Given the description of an element on the screen output the (x, y) to click on. 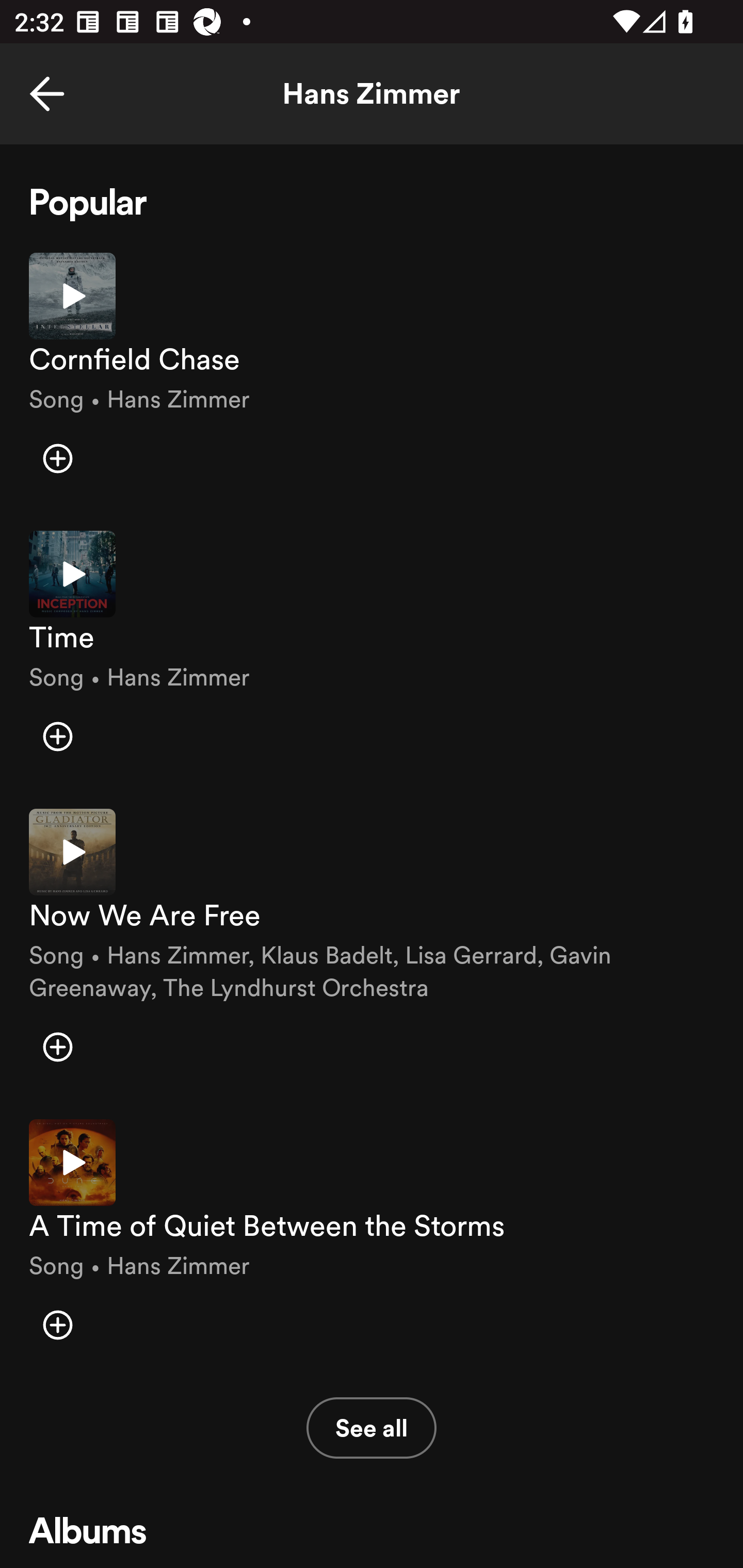
Back (46, 93)
Play preview (71, 295)
Add item (57, 458)
Play preview Time Song • Hans Zimmer Add item (371, 654)
Play preview (71, 573)
Add item (57, 736)
Play preview (71, 852)
Add item (57, 1046)
Play preview (71, 1162)
Add item (57, 1324)
See all (371, 1427)
